Given the description of an element on the screen output the (x, y) to click on. 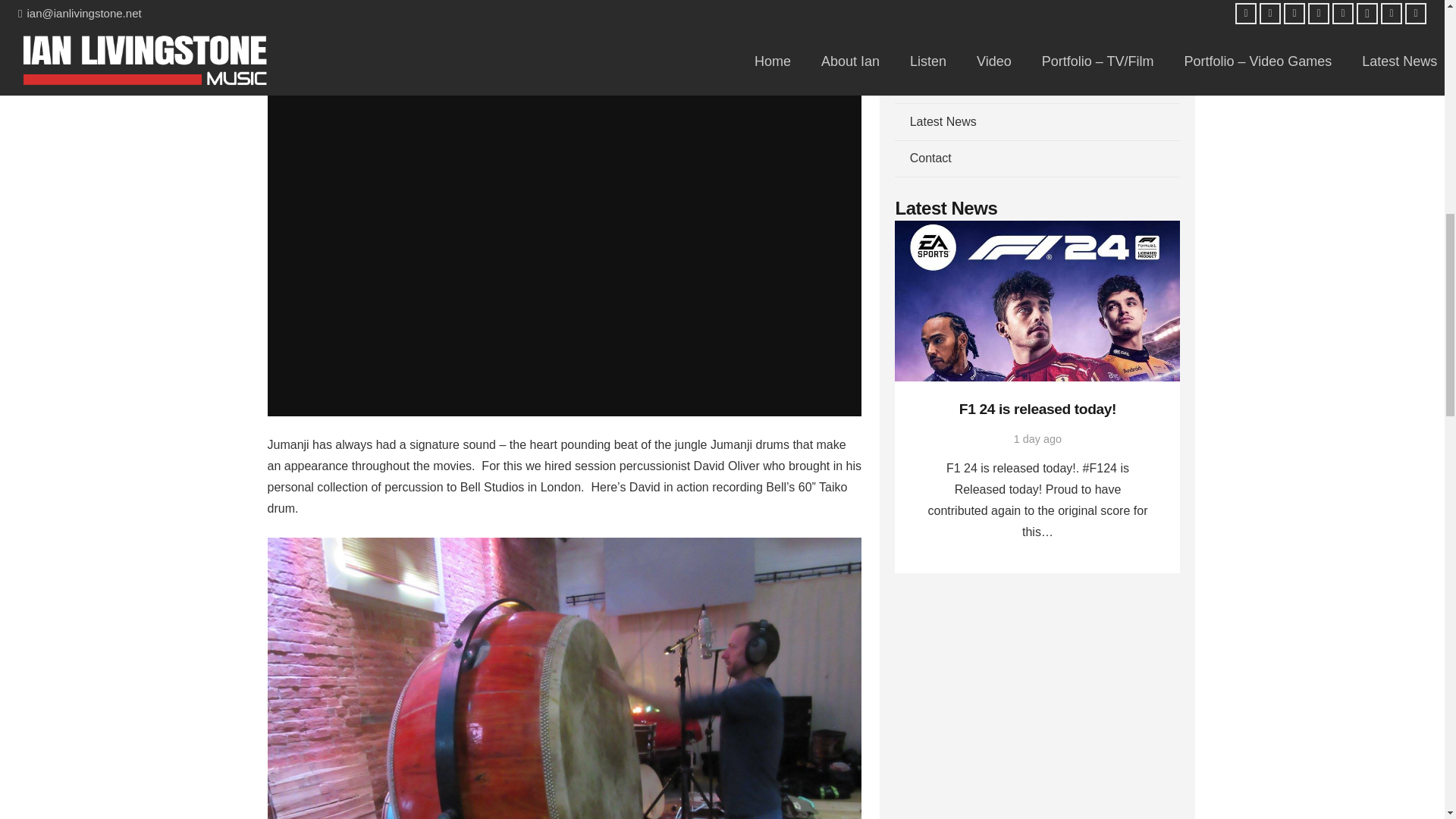
F1 24 is released today! (1037, 408)
Video (1037, 84)
Latest News (1037, 121)
Contact (1037, 158)
